Given the description of an element on the screen output the (x, y) to click on. 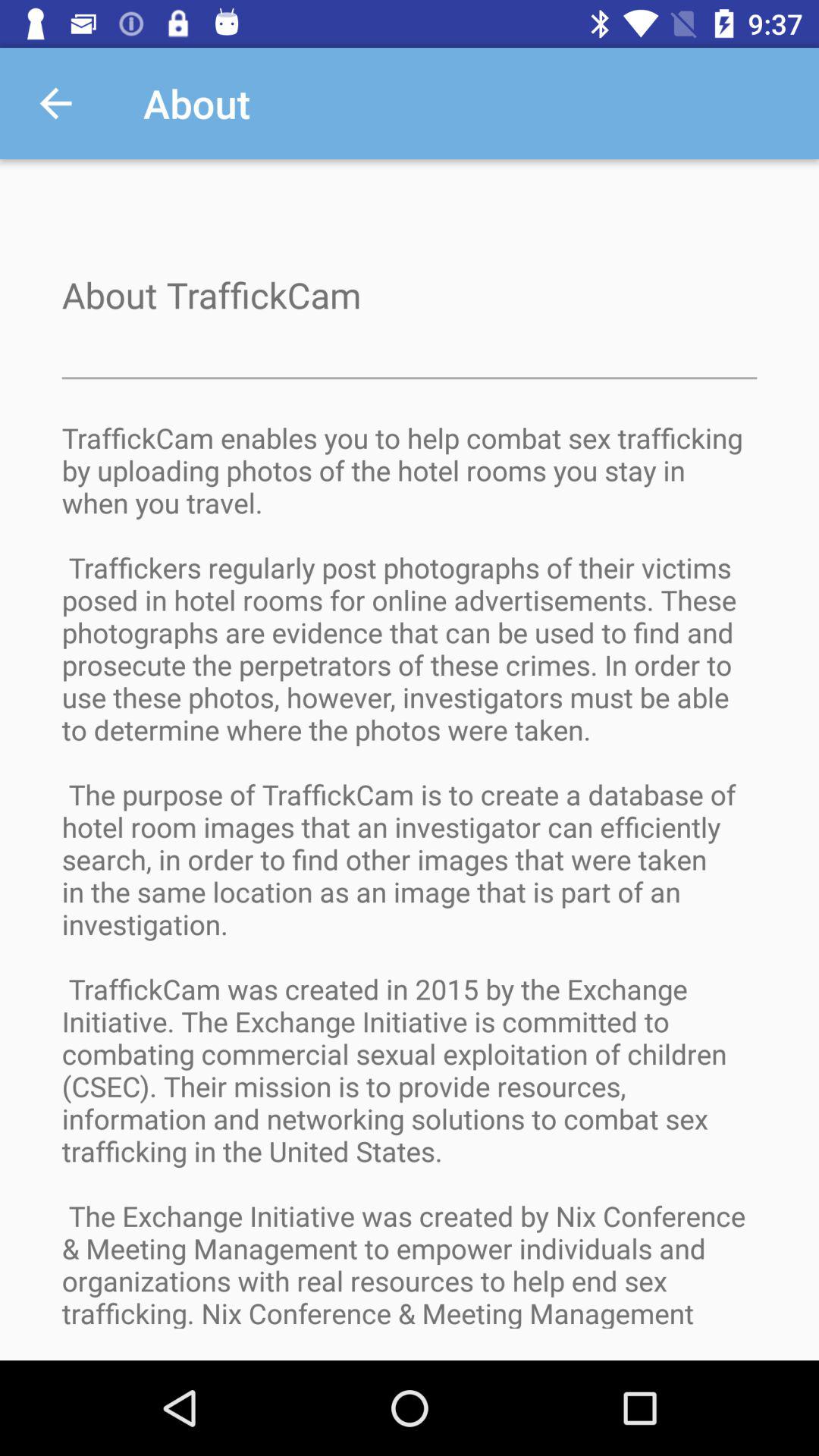
click item above the about traffickcam (55, 103)
